Given the description of an element on the screen output the (x, y) to click on. 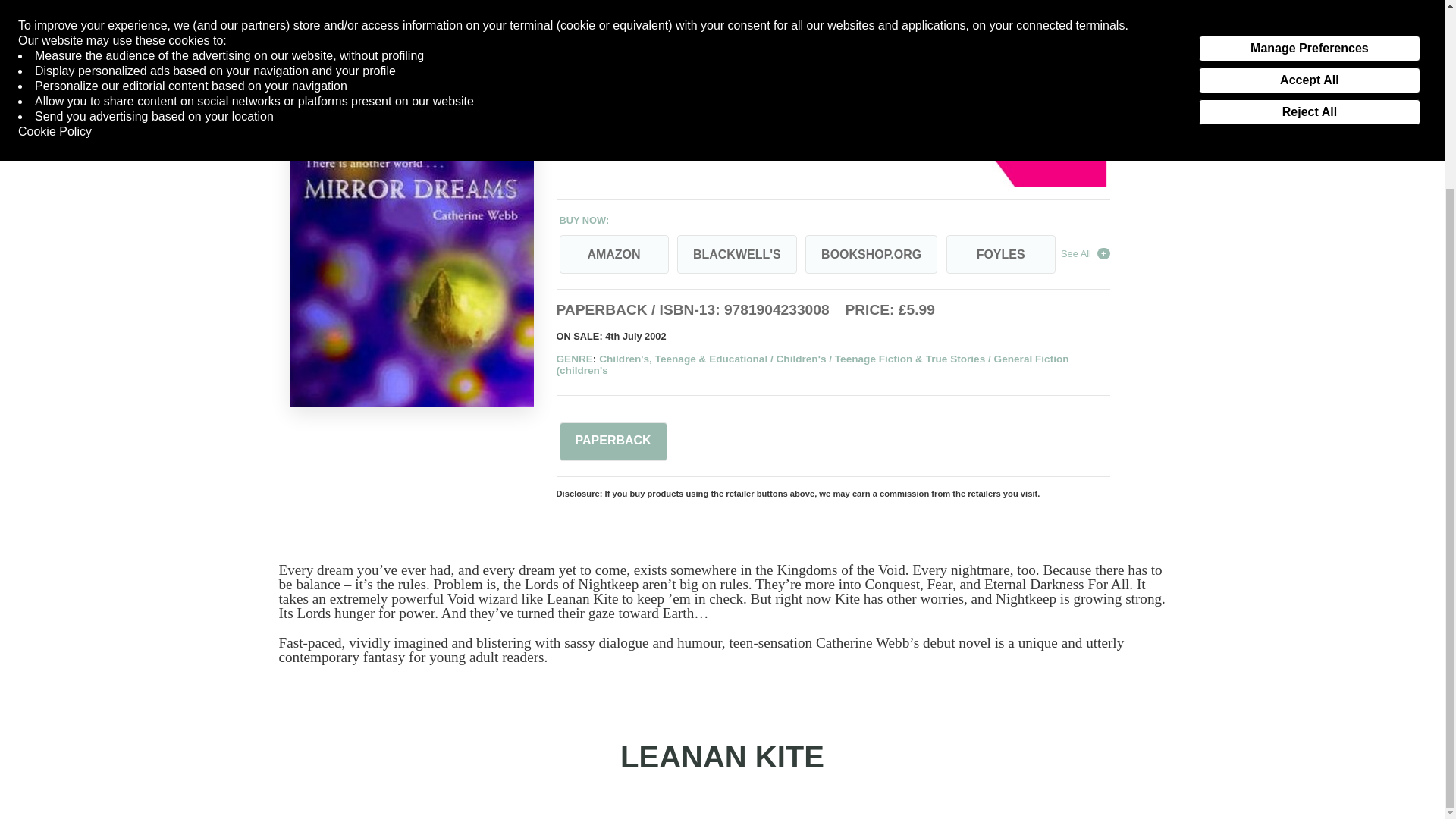
AMAZON (613, 254)
BLACKWELL'S (736, 254)
Catherine Webb (638, 82)
